Given the description of an element on the screen output the (x, y) to click on. 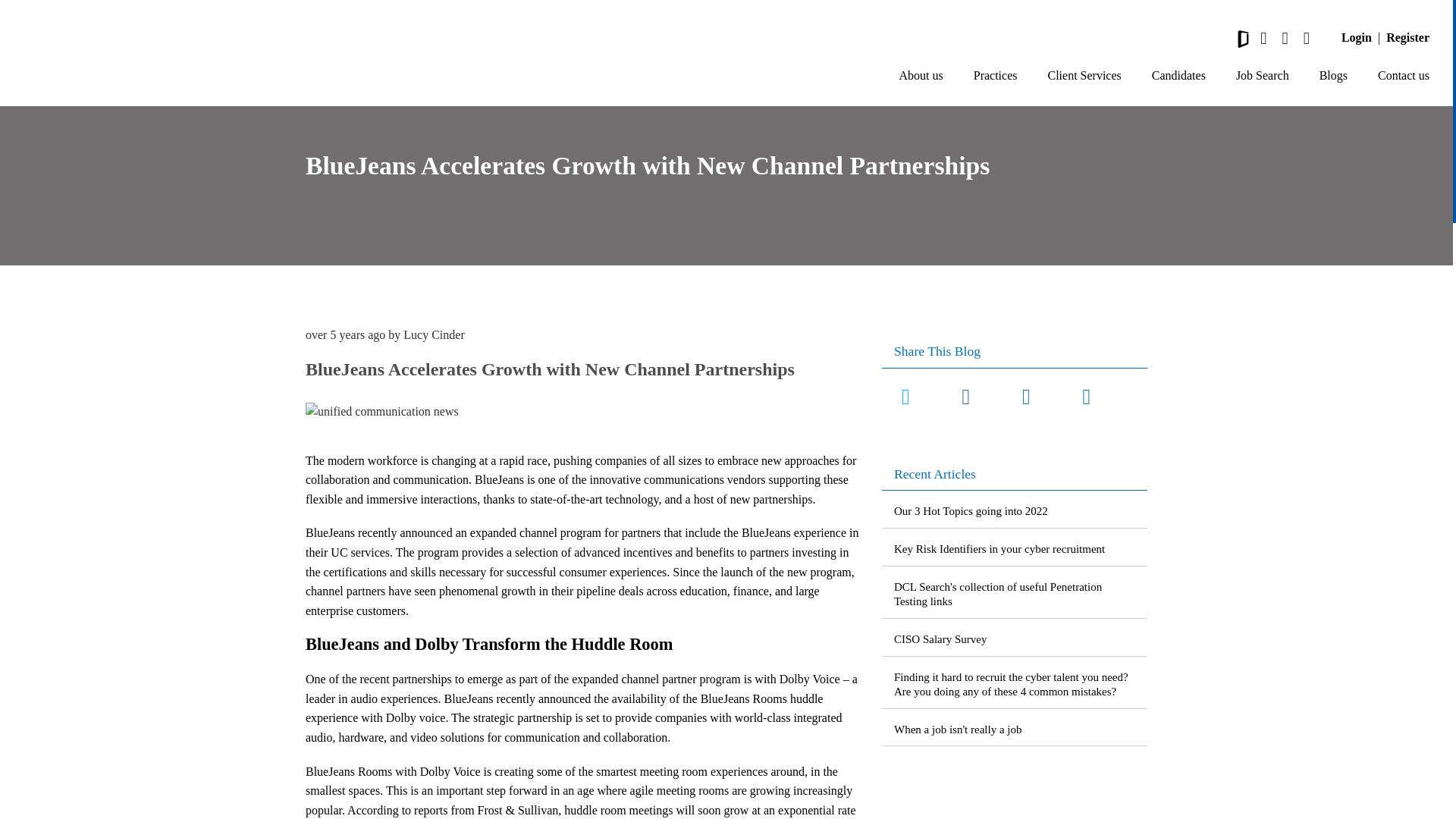
Facebook (964, 396)
About us (921, 75)
DCL (124, 55)
Practices (995, 75)
Twitter (905, 396)
Job Search (1262, 75)
Blogs (1333, 75)
Client Services (1083, 75)
Candidates (1178, 75)
Register (1407, 37)
LinkedIn (1026, 396)
Login (1355, 37)
Email (1085, 396)
Contact us (1403, 75)
